Given the description of an element on the screen output the (x, y) to click on. 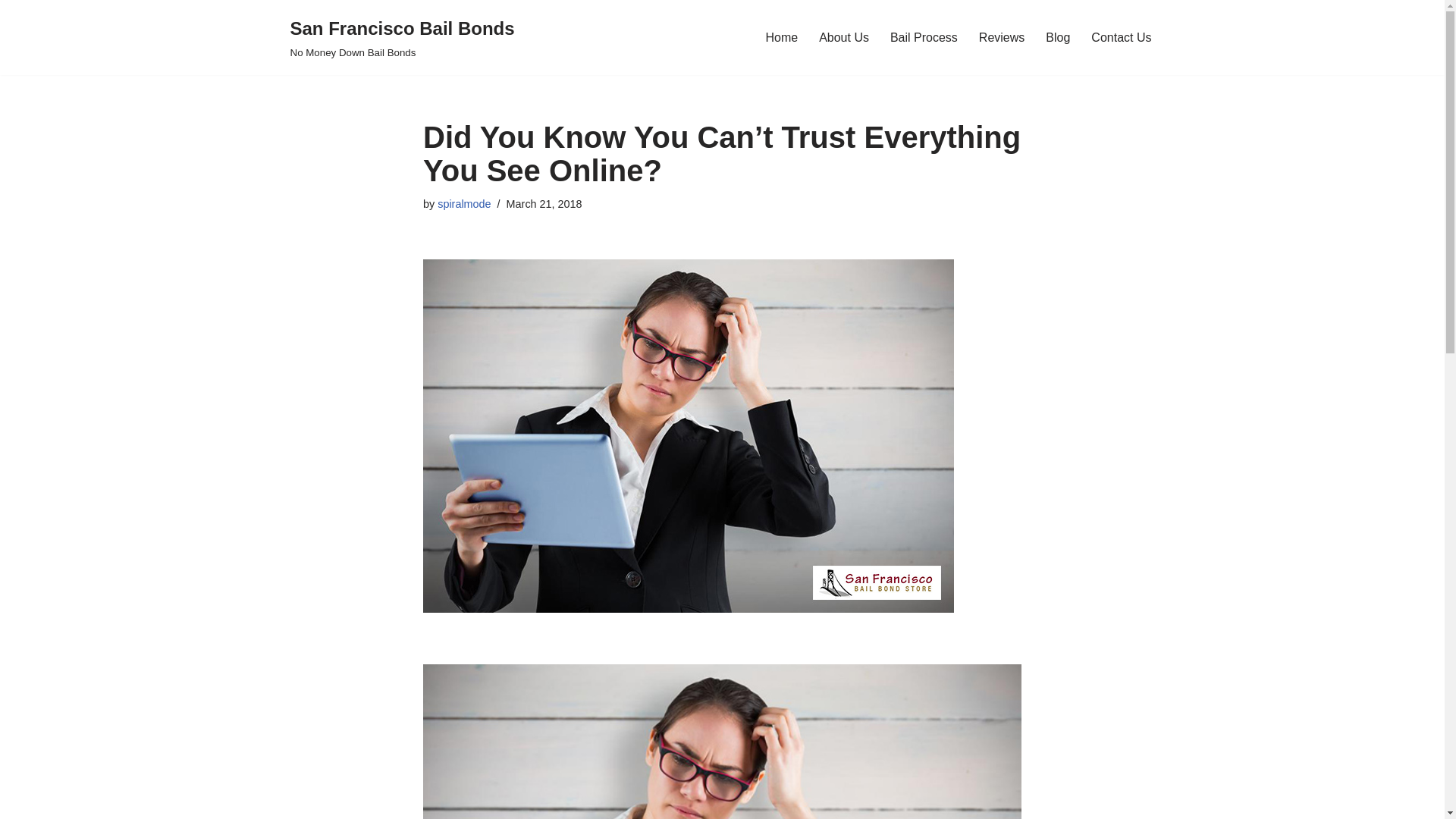
Home (781, 37)
Posts by spiralmode (464, 203)
spiralmode (464, 203)
Reviews (1001, 37)
Skip to content (11, 31)
Contact Us (401, 37)
About Us (1120, 37)
Blog (843, 37)
Bail Process (1057, 37)
